Given the description of an element on the screen output the (x, y) to click on. 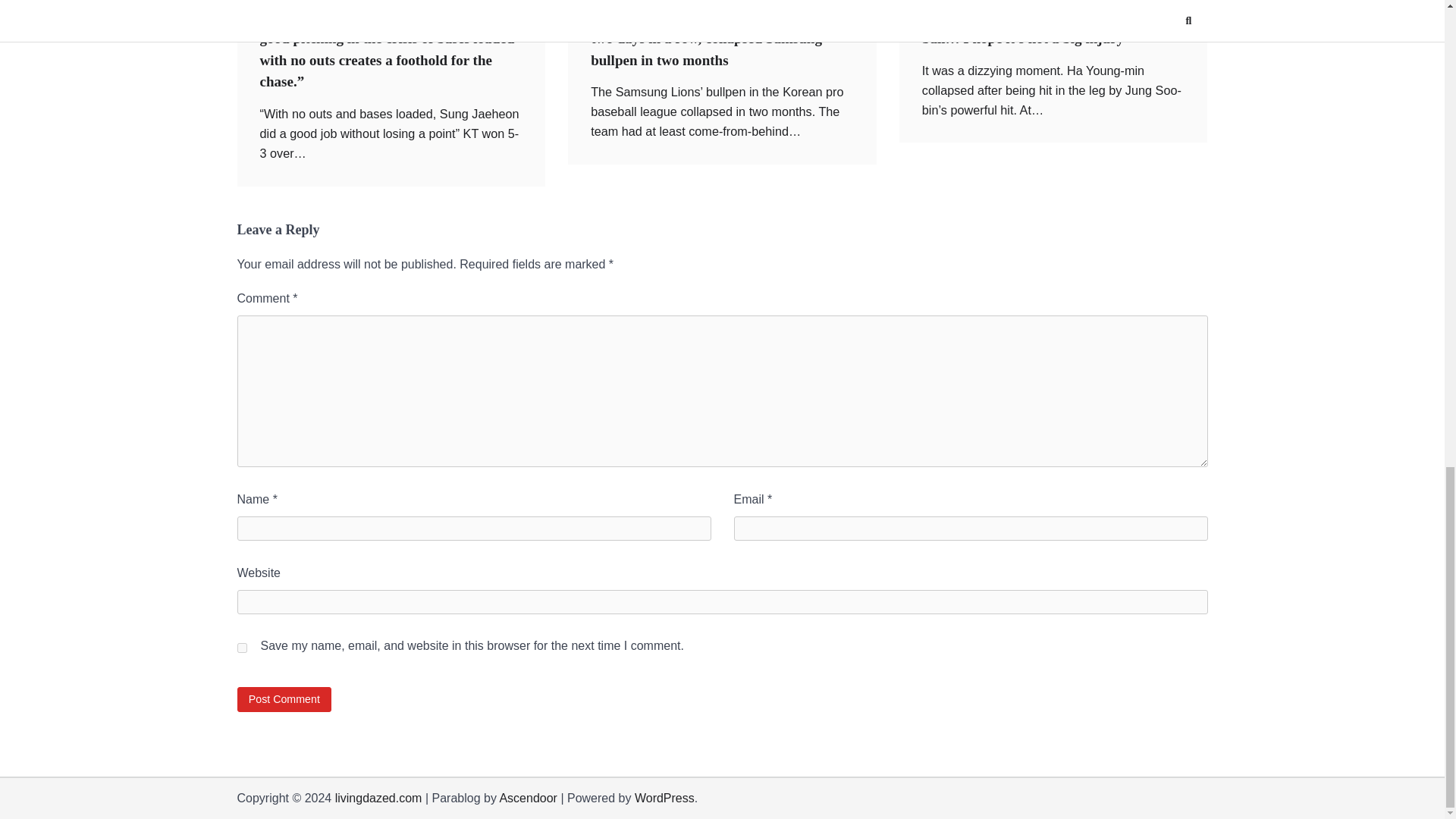
yes (240, 647)
Post Comment (283, 699)
Ascendoor (528, 797)
livingdazed.com (378, 797)
Post Comment (283, 699)
WordPress (664, 797)
